Given the description of an element on the screen output the (x, y) to click on. 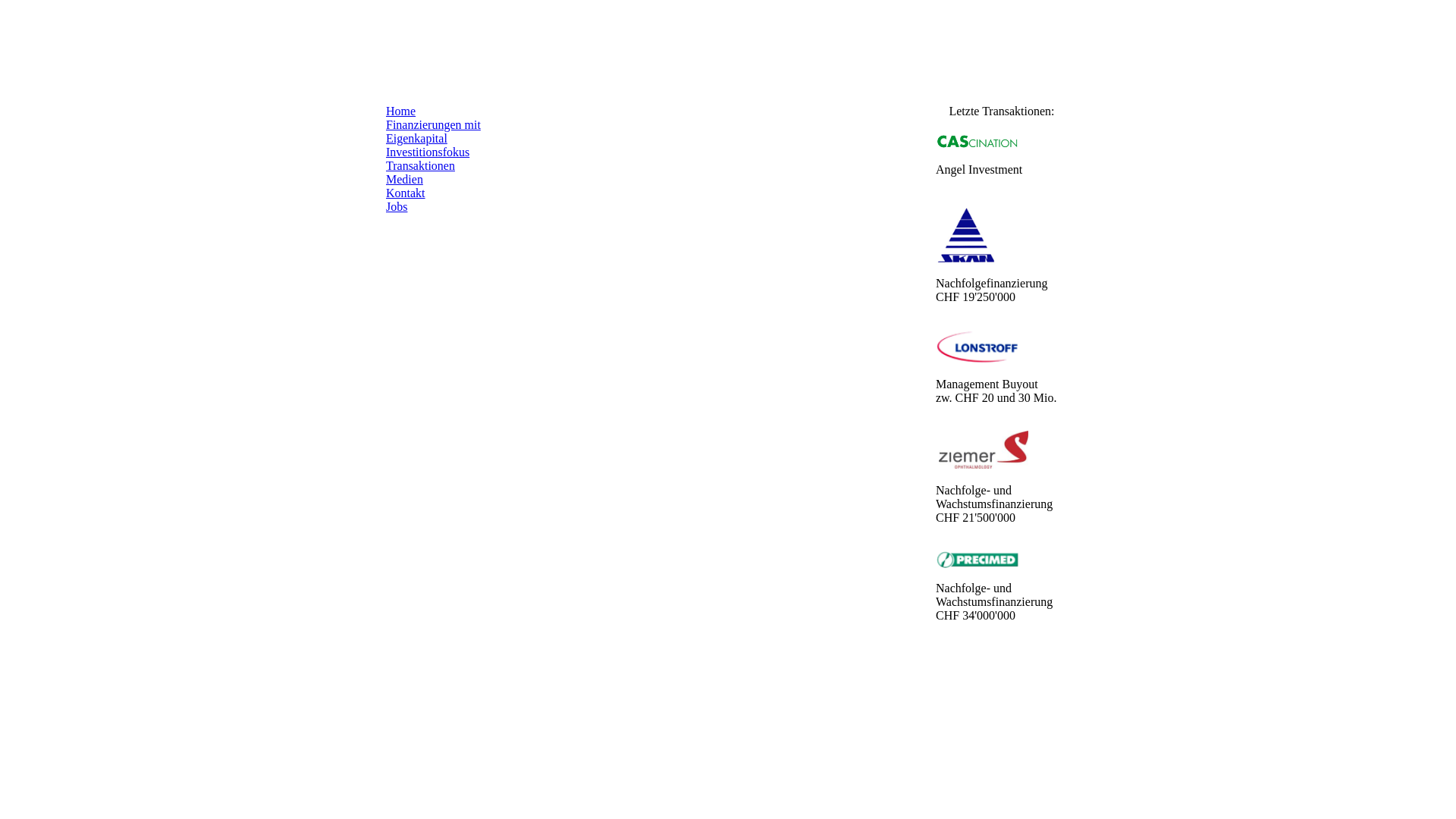
Home Element type: text (400, 110)
Medien Element type: text (404, 178)
Kontakt Element type: text (405, 192)
Lonstroff Holding AG, Buchs Element type: hover (977, 346)
Skan Holding AG, Allschwil Element type: hover (965, 233)
CAScination AG, Bern Element type: hover (977, 141)
Jobs Element type: text (396, 206)
Transaktionen Element type: text (420, 165)
Investitionsfokus Element type: text (427, 151)
Ziemer Group AG, Port Element type: hover (983, 449)
Finanzierungen mit Eigenkapital Element type: text (432, 131)
